Given the description of an element on the screen output the (x, y) to click on. 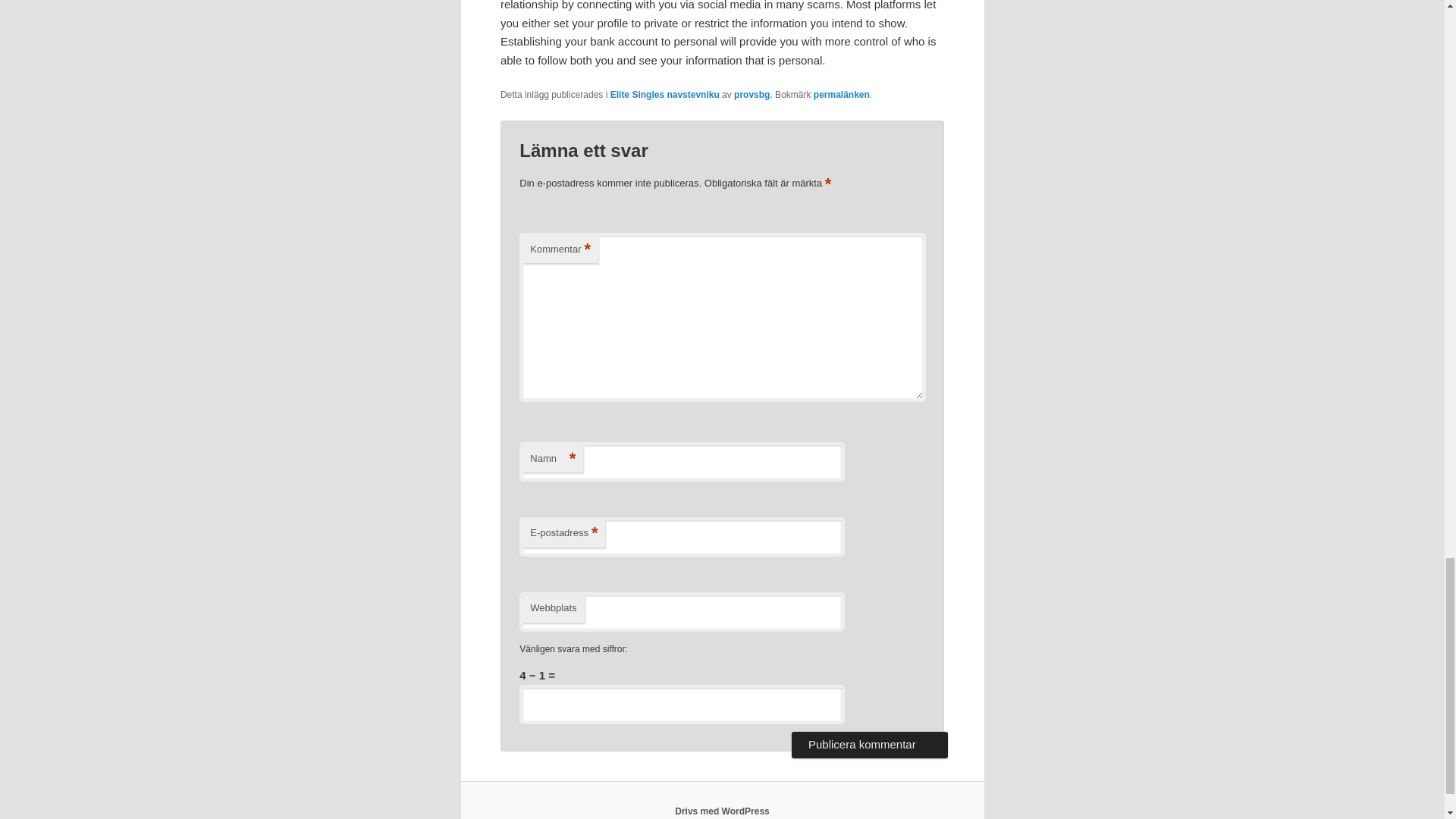
Publicera kommentar (869, 744)
Drivs med WordPress (722, 810)
provsbg (751, 94)
Publicera kommentar (869, 744)
Semantisk personlig publiceringsplattform (722, 810)
Elite Singles navstevniku (664, 94)
